Given the description of an element on the screen output the (x, y) to click on. 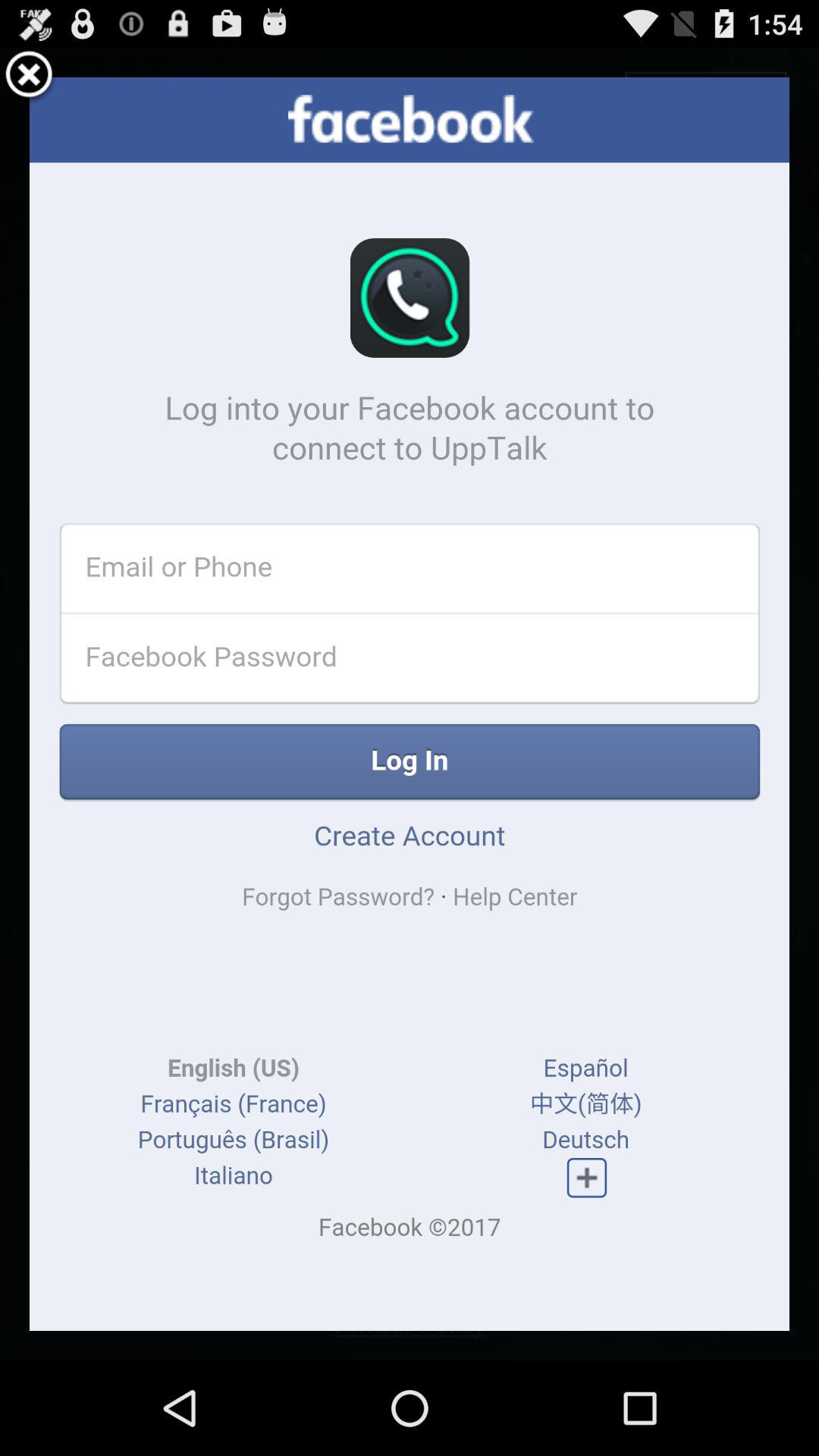
facebook login page (409, 703)
